Given the description of an element on the screen output the (x, y) to click on. 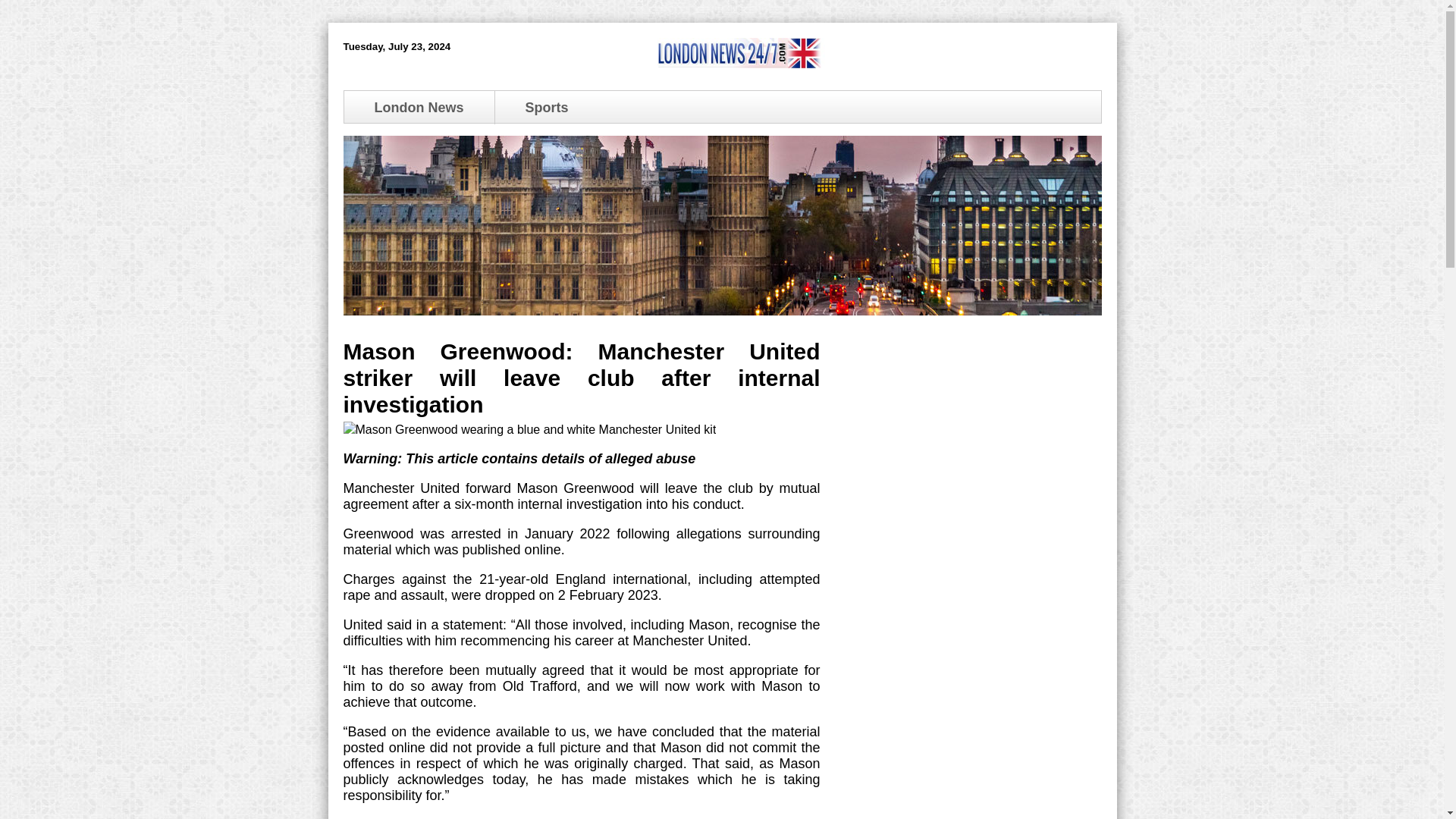
dropped on 2 February 2023. (573, 595)
London News (419, 107)
Sports (546, 107)
londonnews247.com (737, 63)
